Given the description of an element on the screen output the (x, y) to click on. 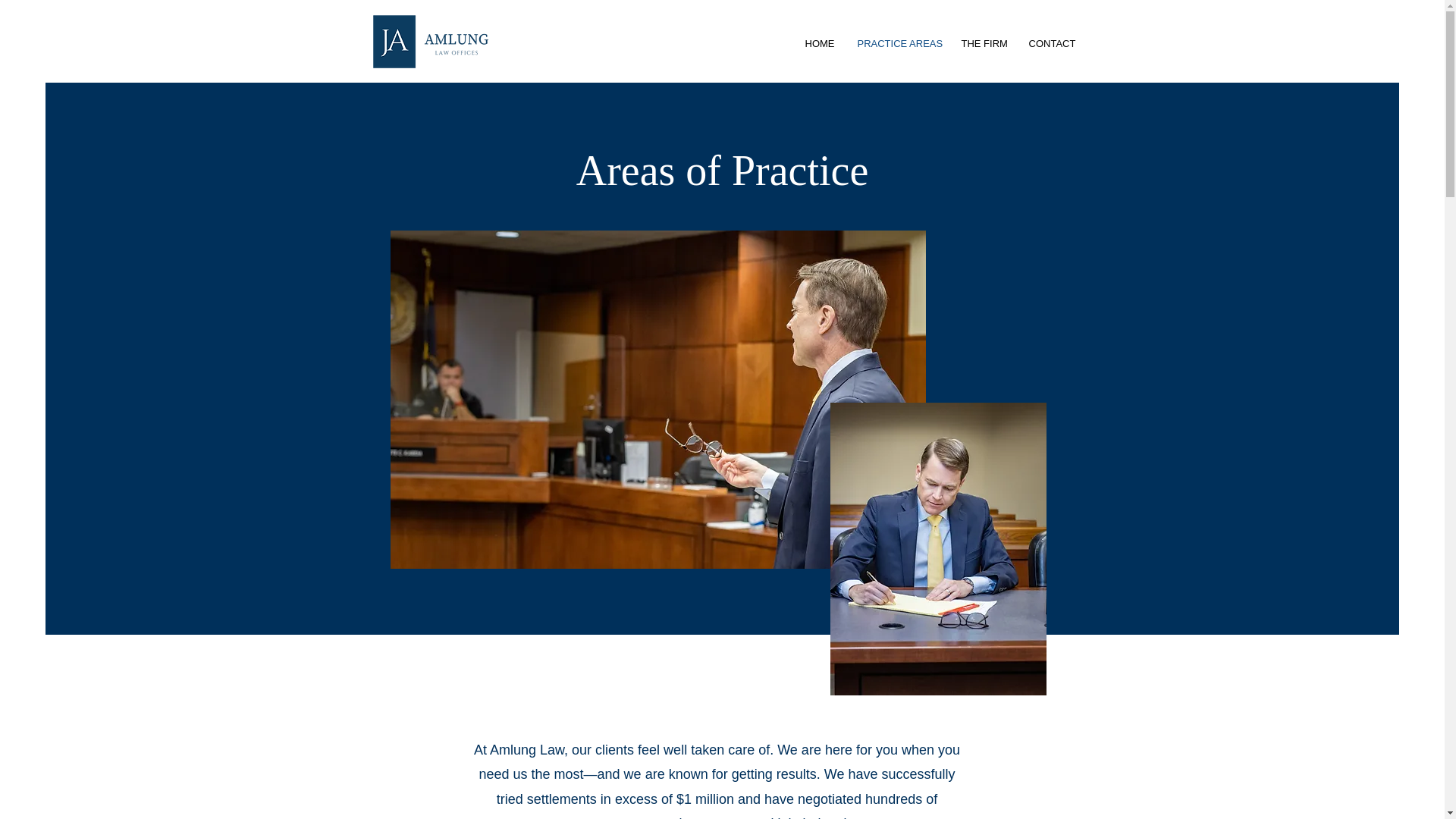
CONTACT (1052, 43)
THE FIRM (982, 43)
PRACTICE AREAS (897, 43)
HOME (819, 43)
